Given the description of an element on the screen output the (x, y) to click on. 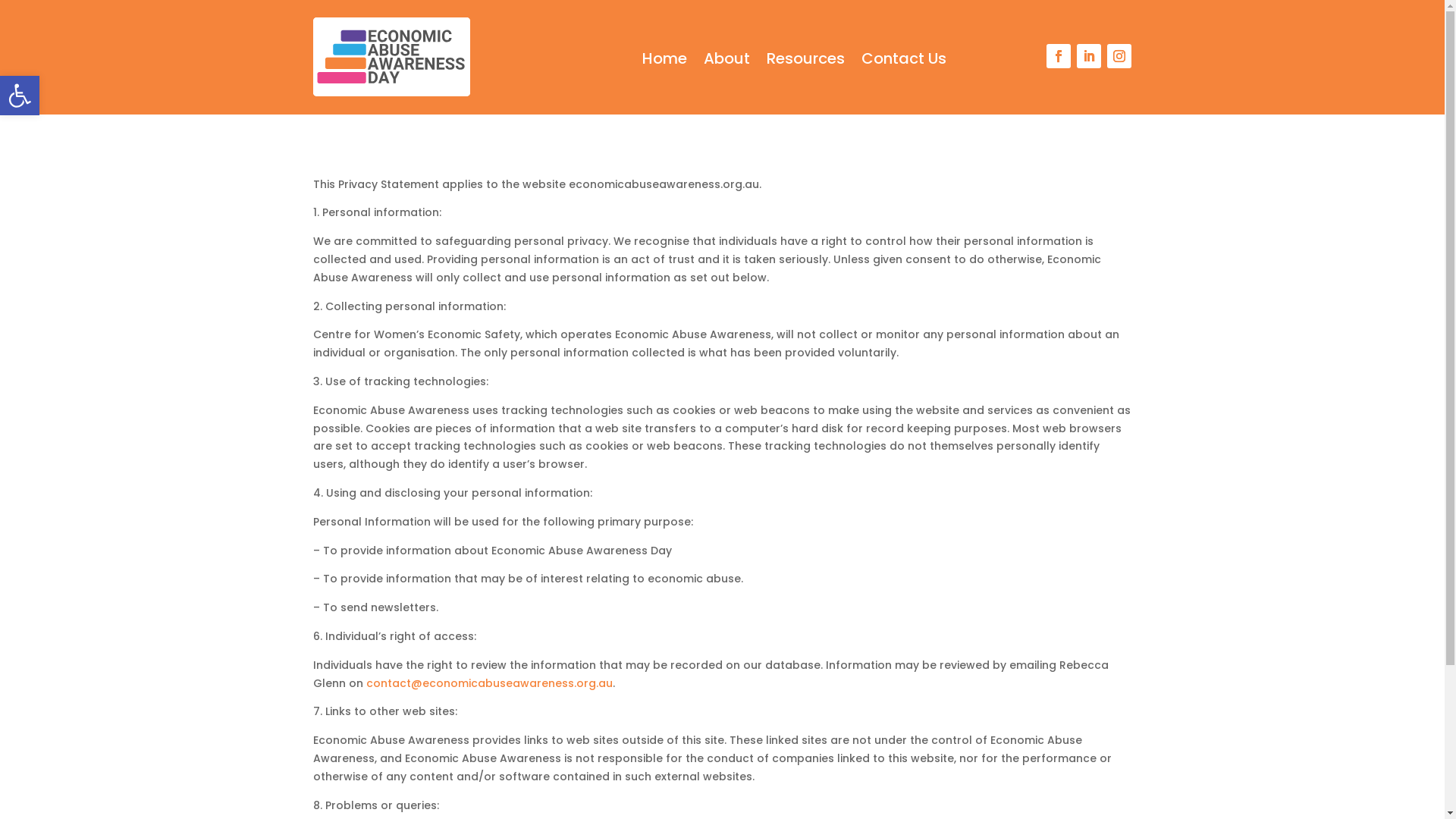
Follow on LinkedIn Element type: hover (1088, 55)
About Element type: text (726, 61)
contact@economicabuseawareness.org.au Element type: text (488, 682)
Resources Element type: text (805, 61)
Follow on Facebook Element type: hover (1058, 55)
Open toolbar
Accessibility Tools Element type: text (19, 95)
Home Element type: text (664, 61)
Contact Us Element type: text (903, 61)
Economic Abuse Awareness Day Element type: hover (390, 56)
Follow on Instagram Element type: hover (1119, 55)
